Given the description of an element on the screen output the (x, y) to click on. 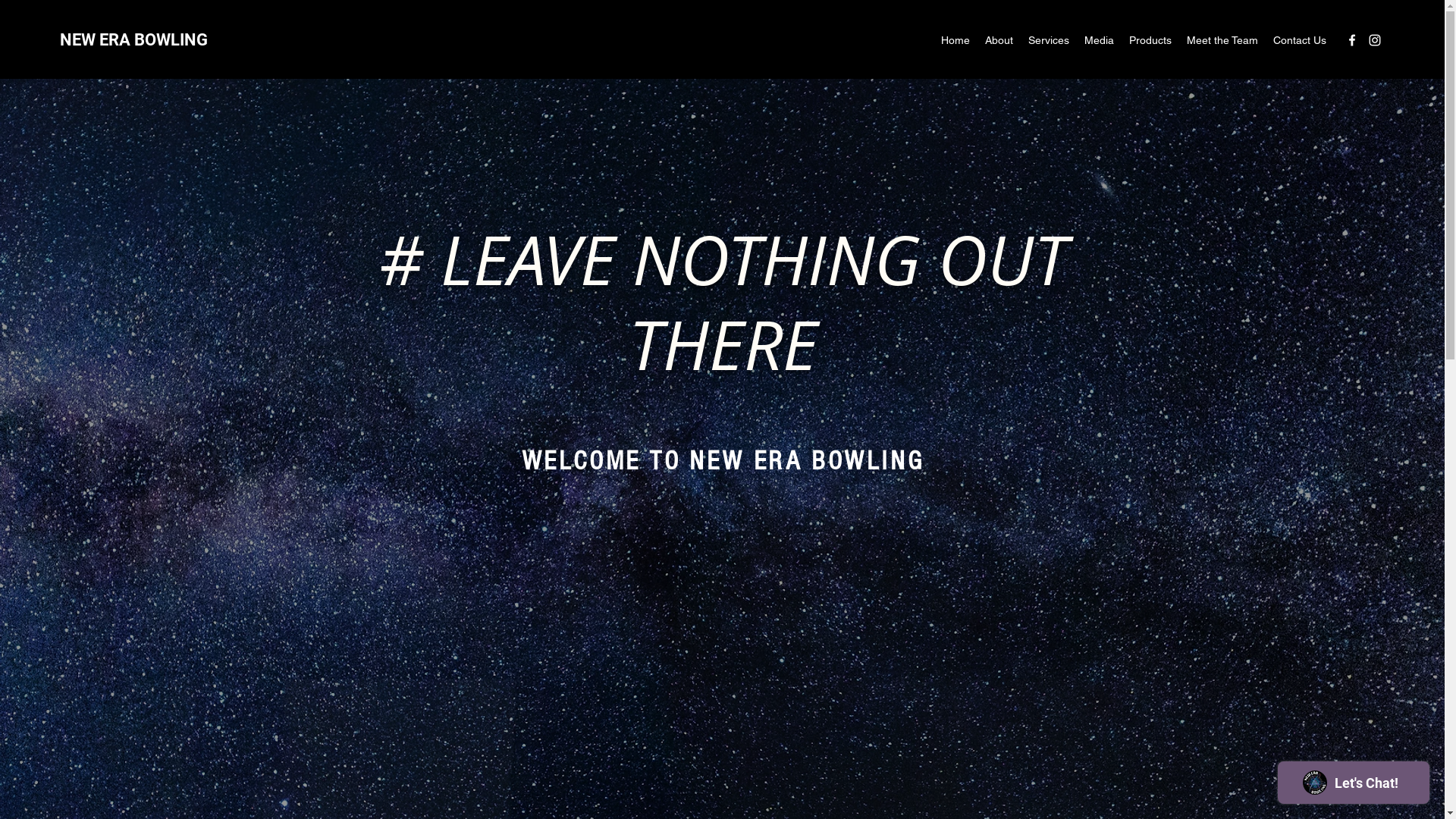
Media Element type: text (1098, 39)
About Element type: text (998, 39)
Products Element type: text (1150, 39)
Contact Us Element type: text (1299, 39)
Home Element type: text (955, 39)
Services Element type: text (1048, 39)
Meet the Team Element type: text (1222, 39)
